Given the description of an element on the screen output the (x, y) to click on. 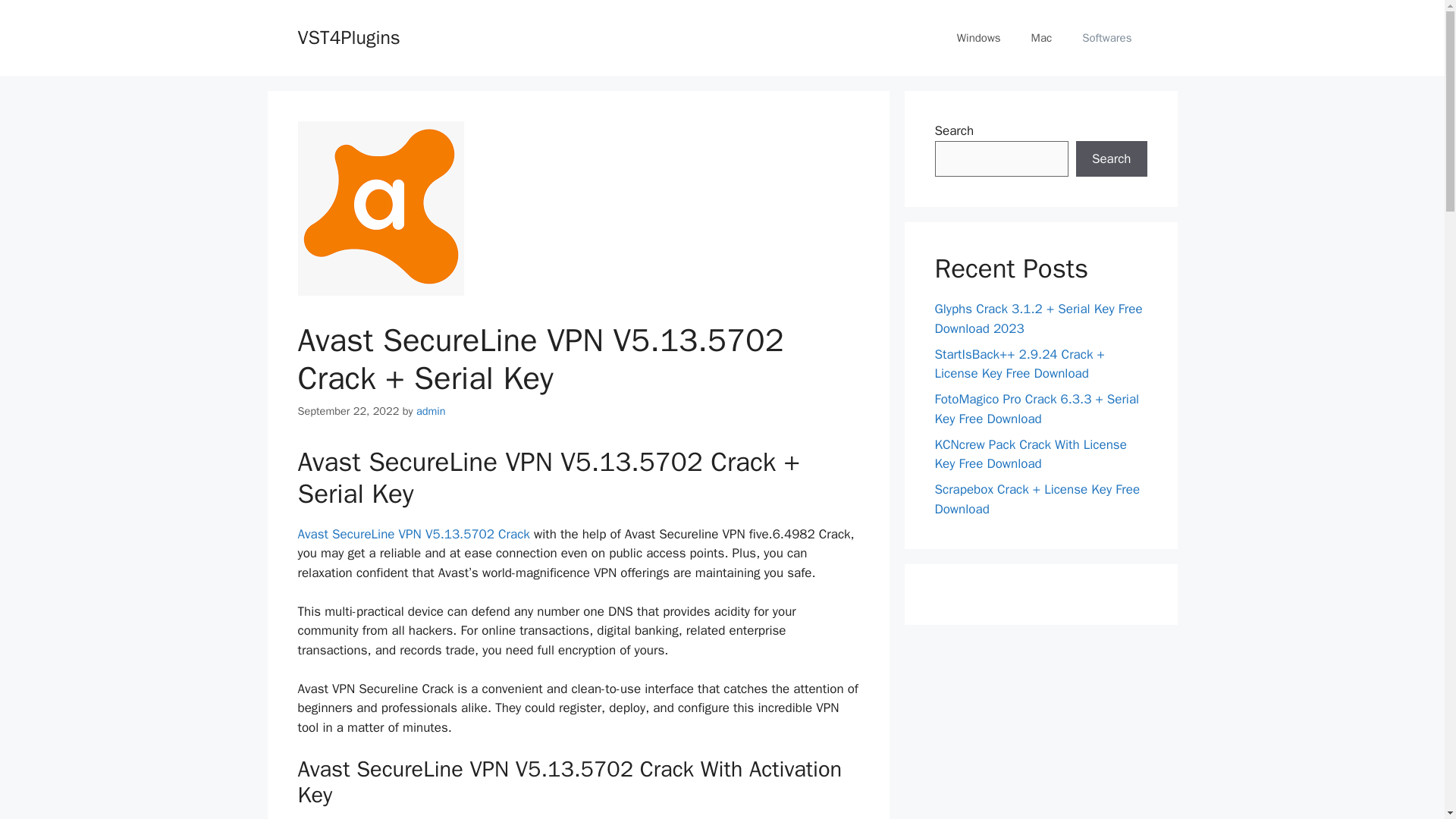
Mac (1041, 37)
VST4Plugins (347, 37)
Softwares (1107, 37)
View all posts by admin (430, 410)
KCNcrew Pack Crack With License Key Free Download (1029, 454)
admin (430, 410)
Windows (979, 37)
Search (1111, 158)
Avast SecureLine VPN V5.13.5702 Crack (413, 534)
